Given the description of an element on the screen output the (x, y) to click on. 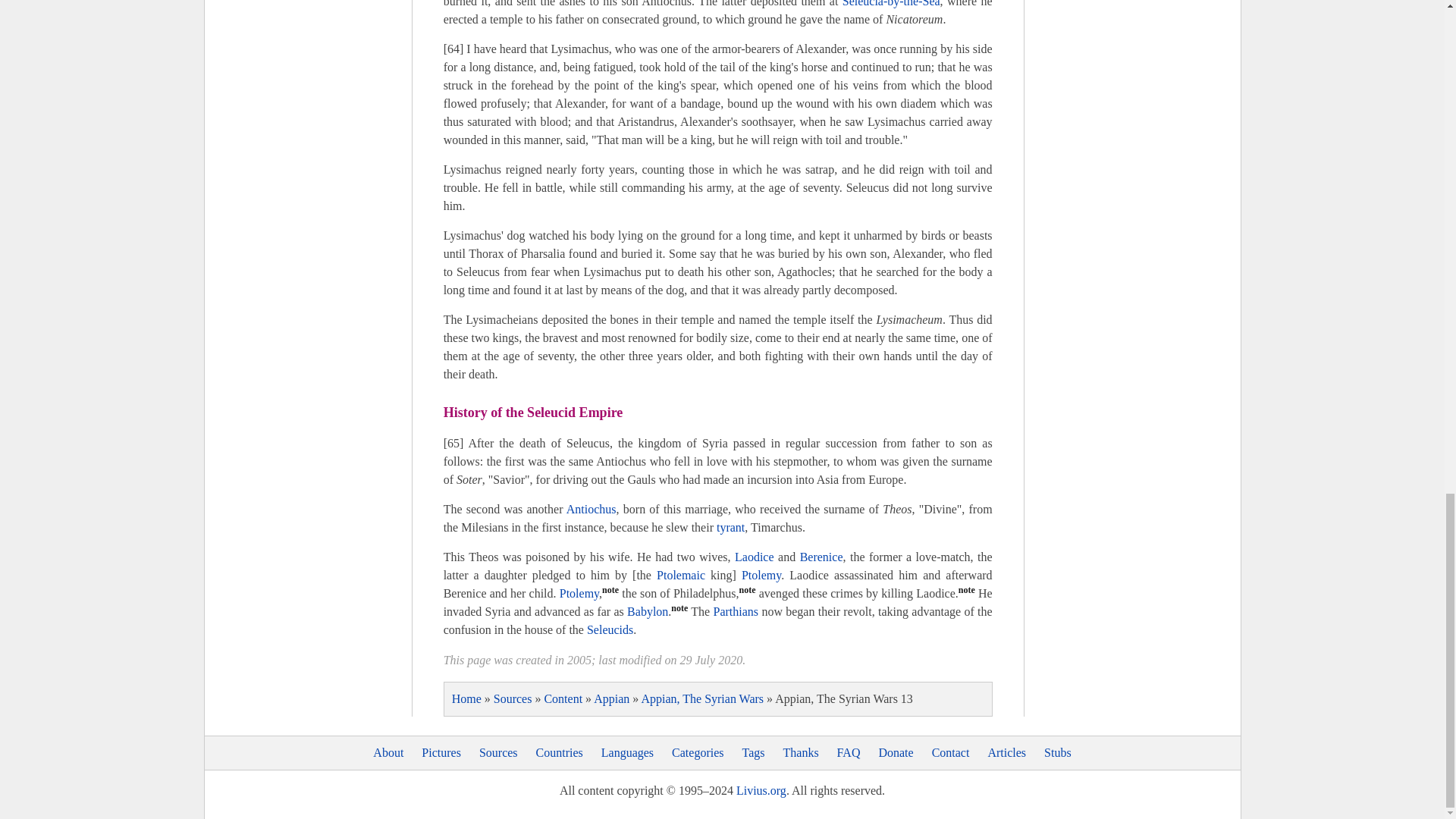
Seleucia-by-the-Sea (891, 3)
Laodice (754, 556)
tyrant (730, 526)
Click to toggle note (966, 593)
Antiochus (590, 508)
Berenice (821, 556)
Click to toggle note (747, 593)
Click to toggle note (679, 611)
Click to toggle note (610, 593)
